Given the description of an element on the screen output the (x, y) to click on. 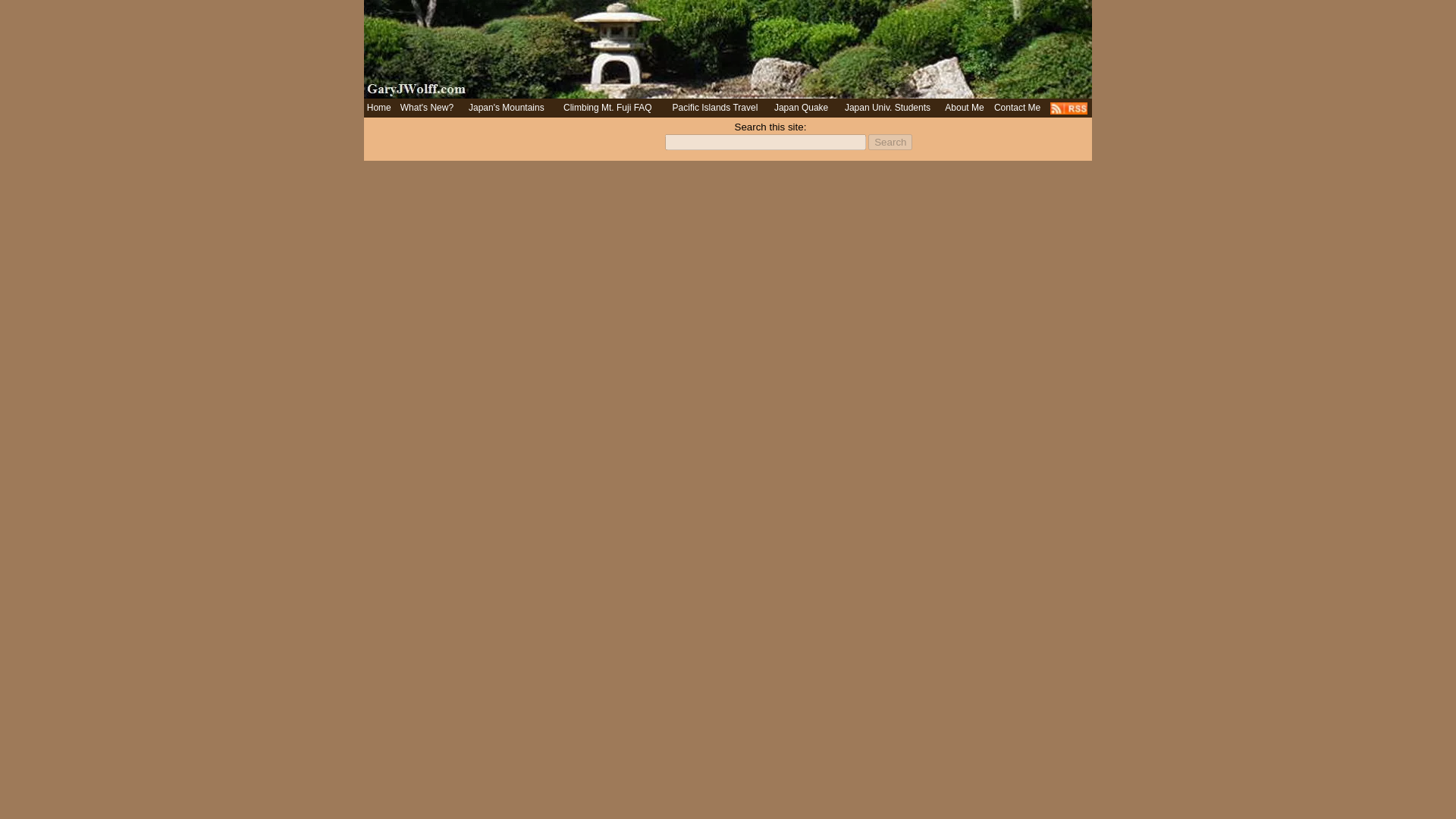
Contact Me (1017, 107)
Search (889, 141)
Japan Univ. Students (887, 107)
About Me (964, 107)
Climbing Mt. Fuji FAQ (607, 107)
Japan's Mountains (506, 107)
Pacific Islands Travel (715, 107)
What's New? (426, 107)
Home (378, 107)
Search (889, 141)
